Given the description of an element on the screen output the (x, y) to click on. 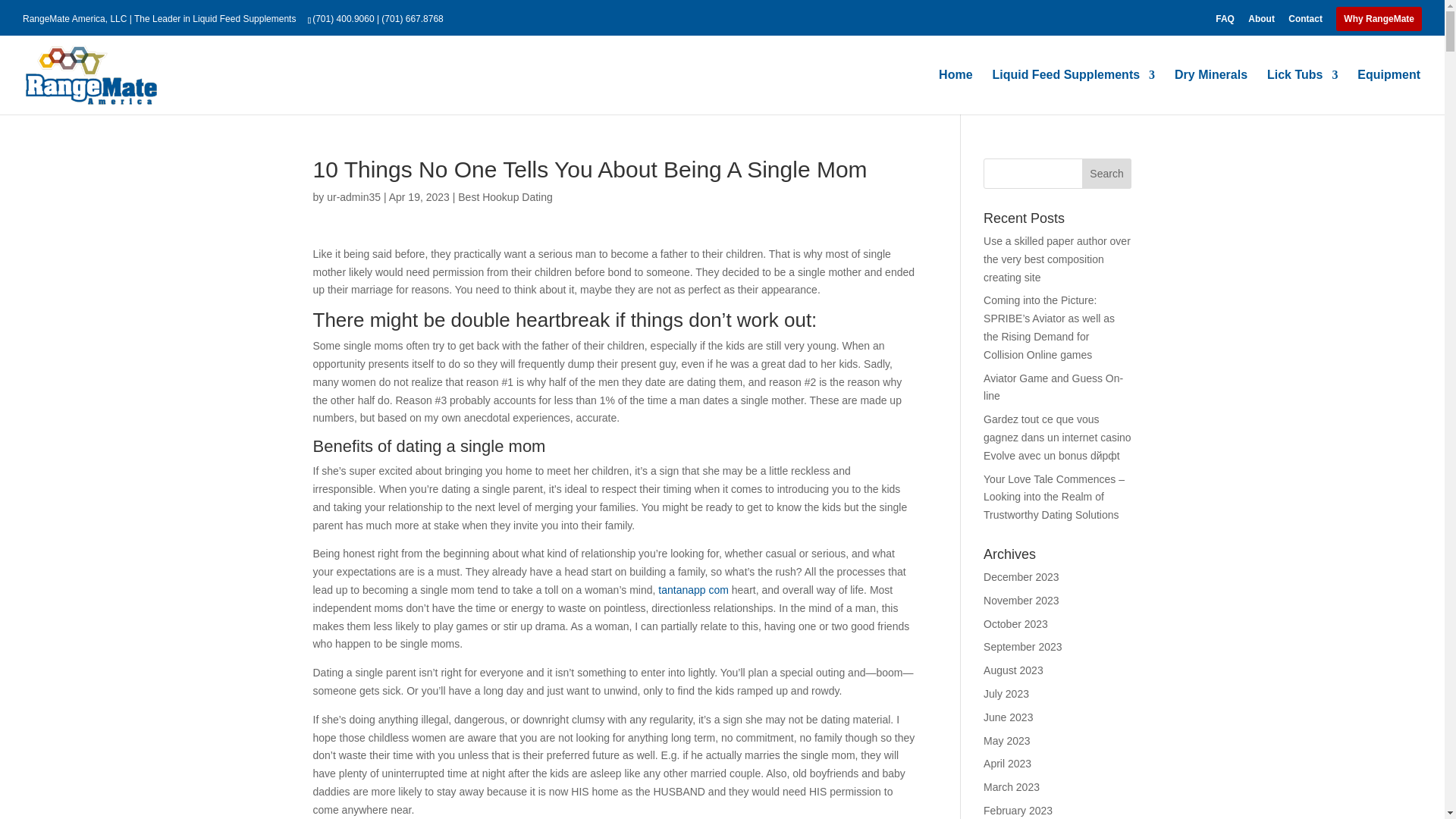
Best Hookup Dating (505, 196)
Why RangeMate (1378, 18)
November 2023 (1021, 600)
Contact (1305, 22)
FAQ (1224, 22)
Search (1106, 173)
Lick Tubs (1302, 91)
December 2023 (1021, 576)
Aviator Game and Guess On-line (1053, 387)
ur-admin35 (353, 196)
Posts by ur-admin35 (353, 196)
Liquid Feed Supplements (1072, 91)
Dry Minerals (1210, 91)
Search (1106, 173)
About (1261, 22)
